Given the description of an element on the screen output the (x, y) to click on. 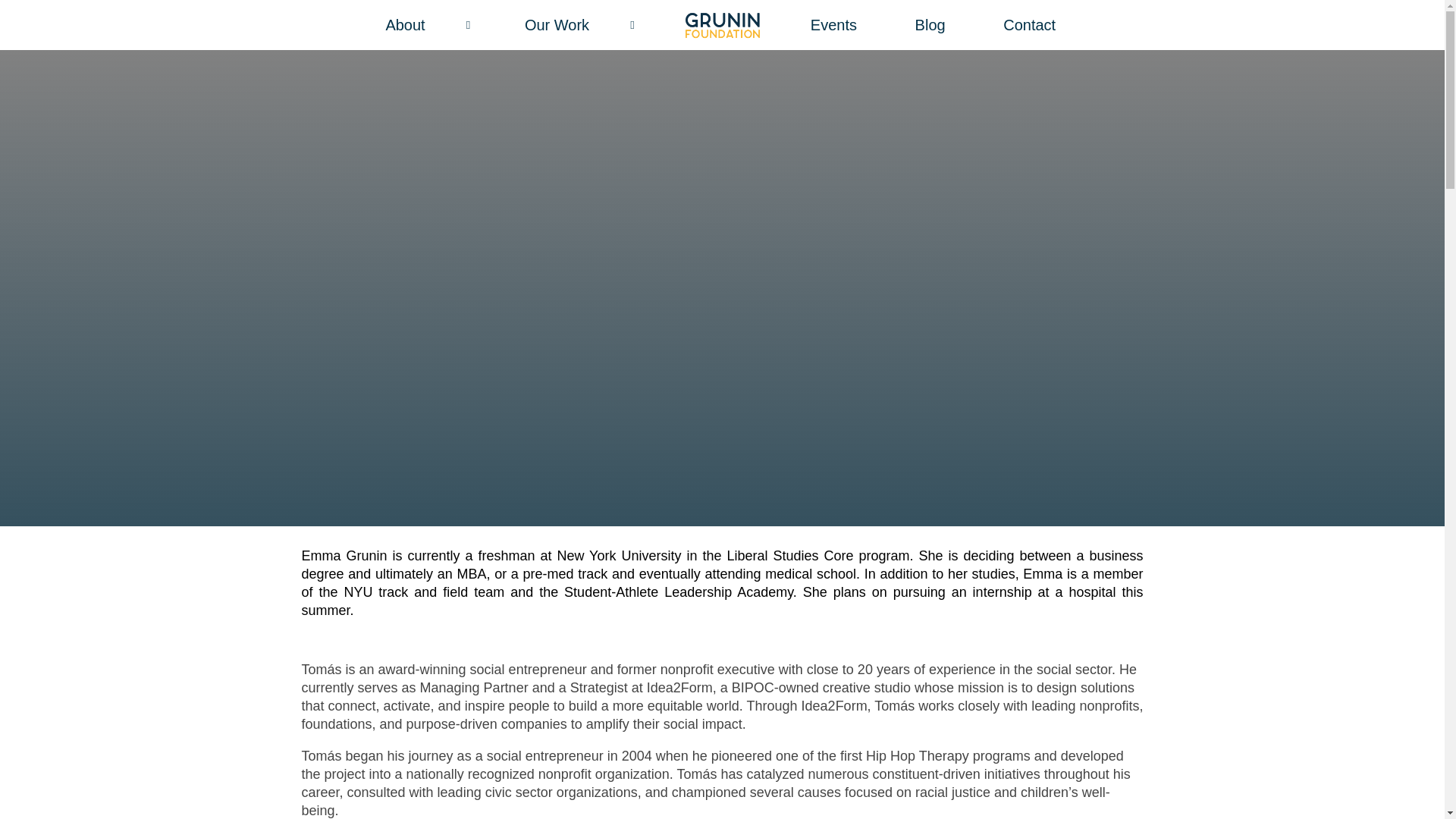
About (429, 24)
Our Work (581, 24)
Contact (1028, 24)
Our Work (581, 24)
About (429, 24)
Events (833, 24)
Blog (930, 24)
